Given the description of an element on the screen output the (x, y) to click on. 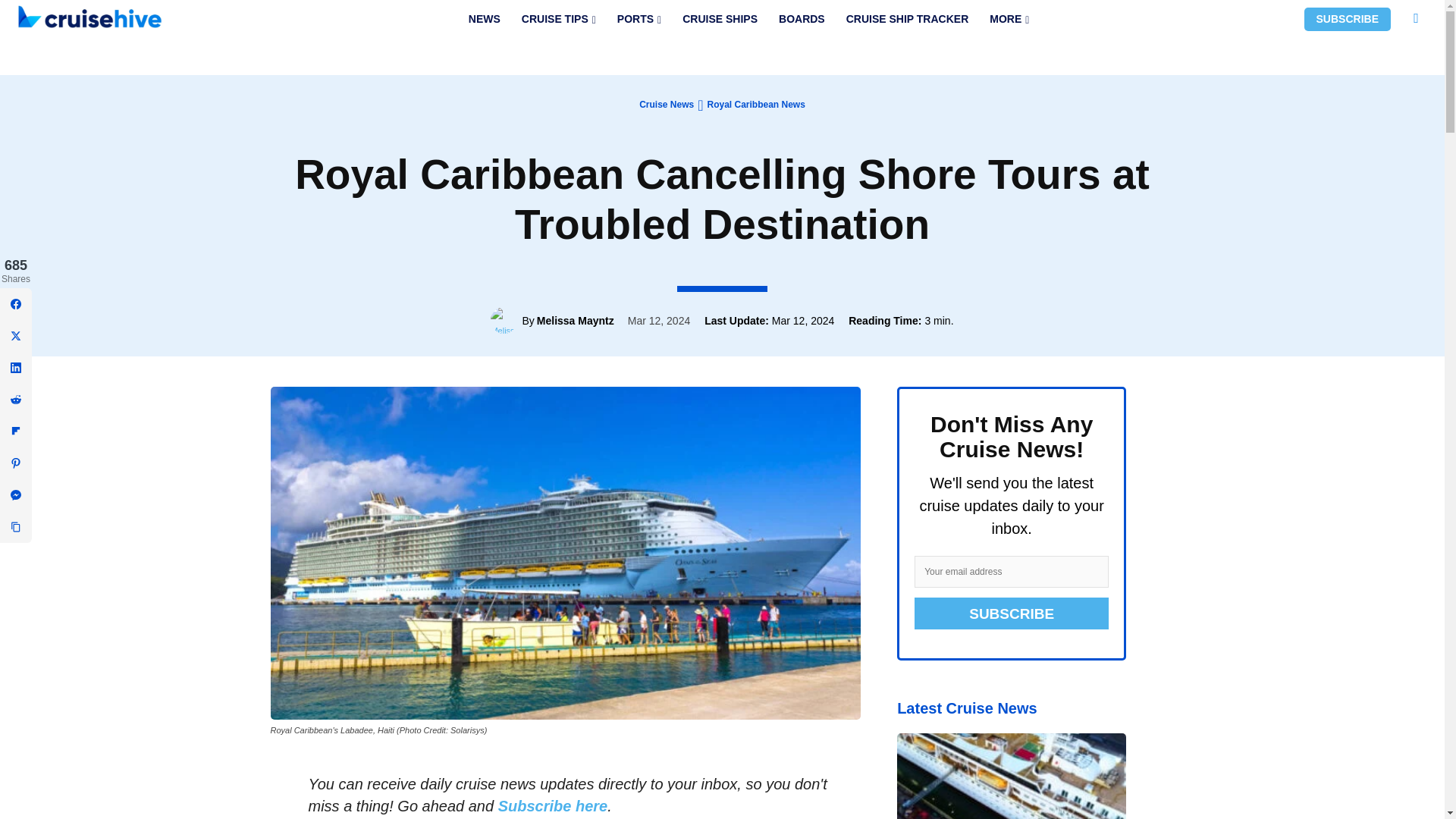
Melissa Mayntz (505, 320)
View all posts in Cruise News (666, 104)
NEWS (484, 19)
View all posts in Royal Caribbean News (755, 104)
SUBSCRIBE (1347, 19)
CRUISE TIPS (559, 19)
PORTS (639, 19)
